Given the description of an element on the screen output the (x, y) to click on. 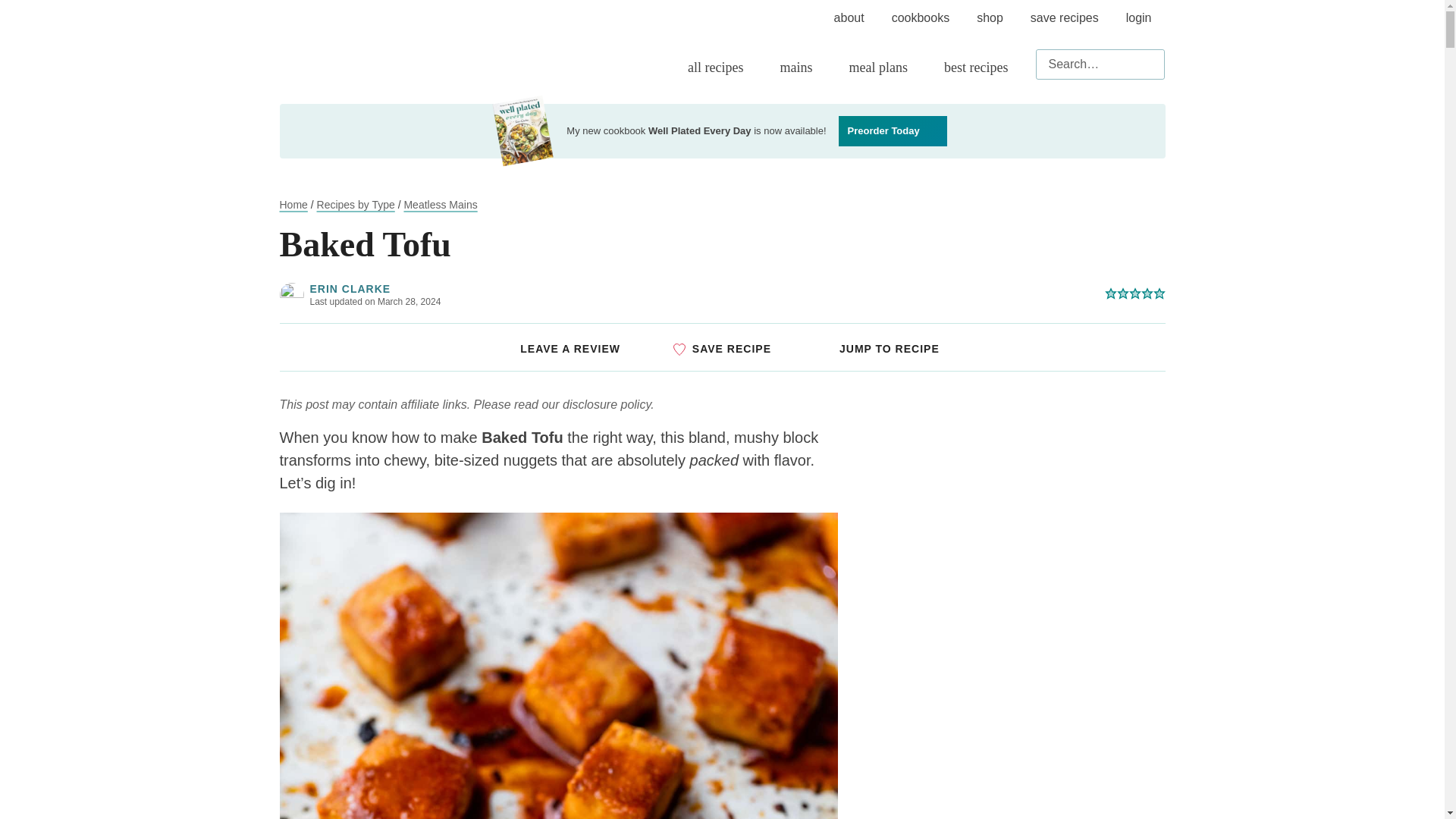
Share on Facebook (772, 294)
all recipes (719, 67)
Well Plated by Erin (336, 39)
Share on Pinterest (732, 294)
Search for (1099, 63)
Share on Twitter (811, 294)
